Given the description of an element on the screen output the (x, y) to click on. 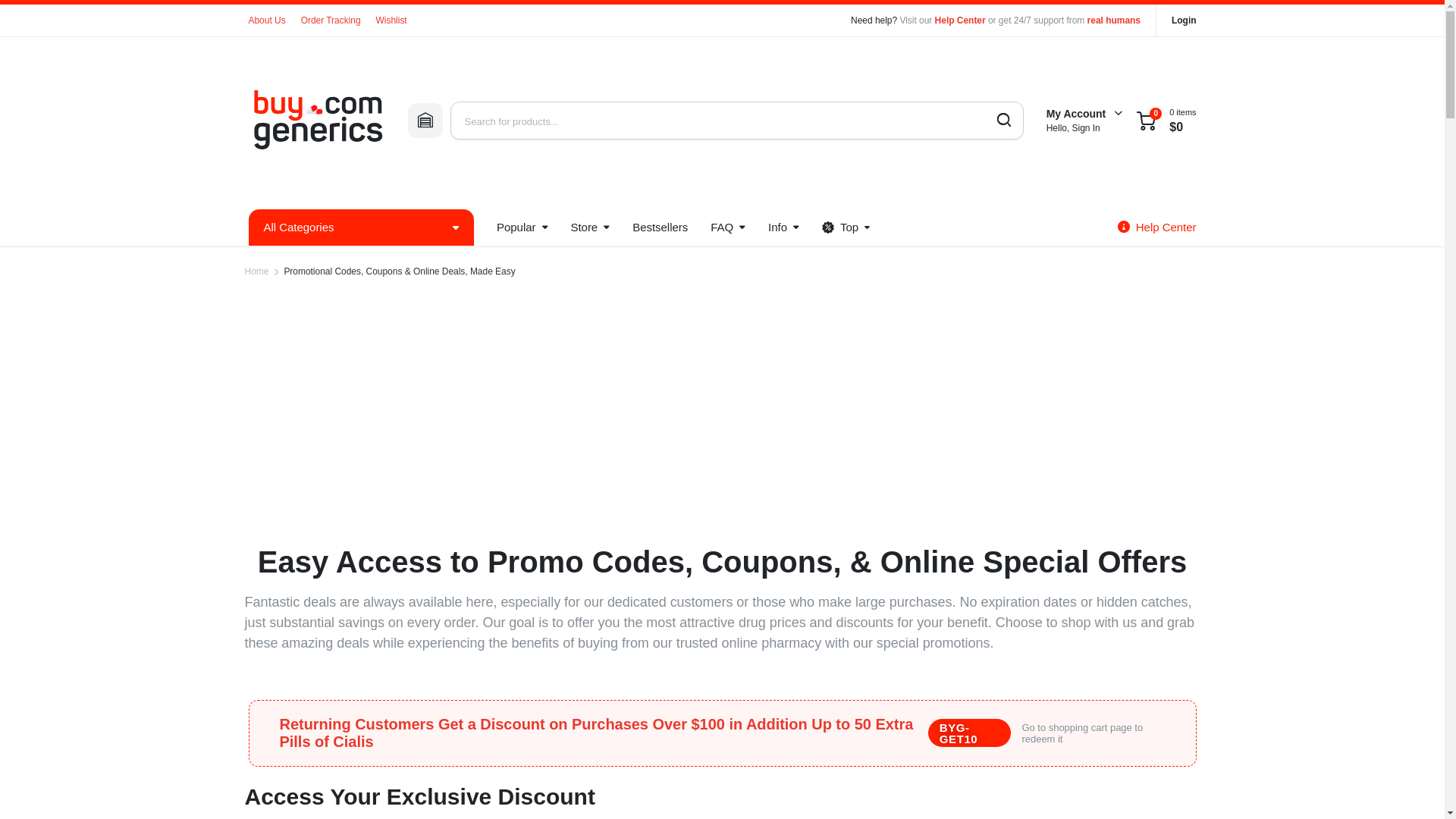
FAQ (727, 227)
Order Tracking (331, 20)
All Categories (361, 227)
Popular (521, 227)
Bestsellers (659, 227)
Home (255, 271)
real humans (1113, 20)
BuyGenerics (316, 120)
Wishlist (391, 20)
Store (590, 227)
About Us (266, 20)
Help Center (959, 20)
